Given the description of an element on the screen output the (x, y) to click on. 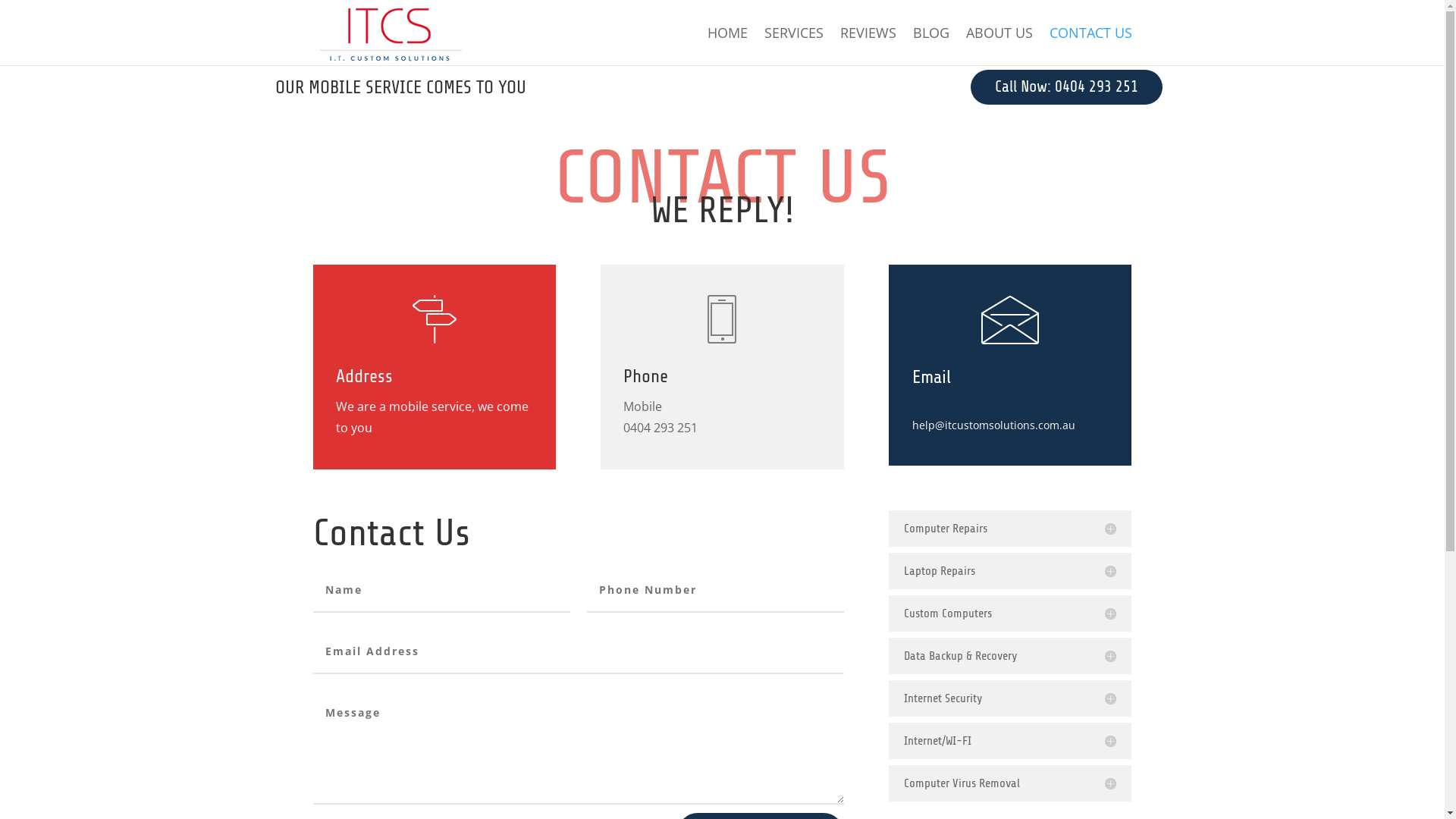
help@itcustomsolutions.com.au Element type: text (993, 434)
Call Now: 0404 293 251 Element type: text (1066, 86)
SERVICES Element type: text (793, 46)
REVIEWS Element type: text (868, 46)
BLOG Element type: text (931, 46)
CONTACT US Element type: text (1090, 46)
HOME Element type: text (726, 46)
ABOUT US Element type: text (999, 46)
